Given the description of an element on the screen output the (x, y) to click on. 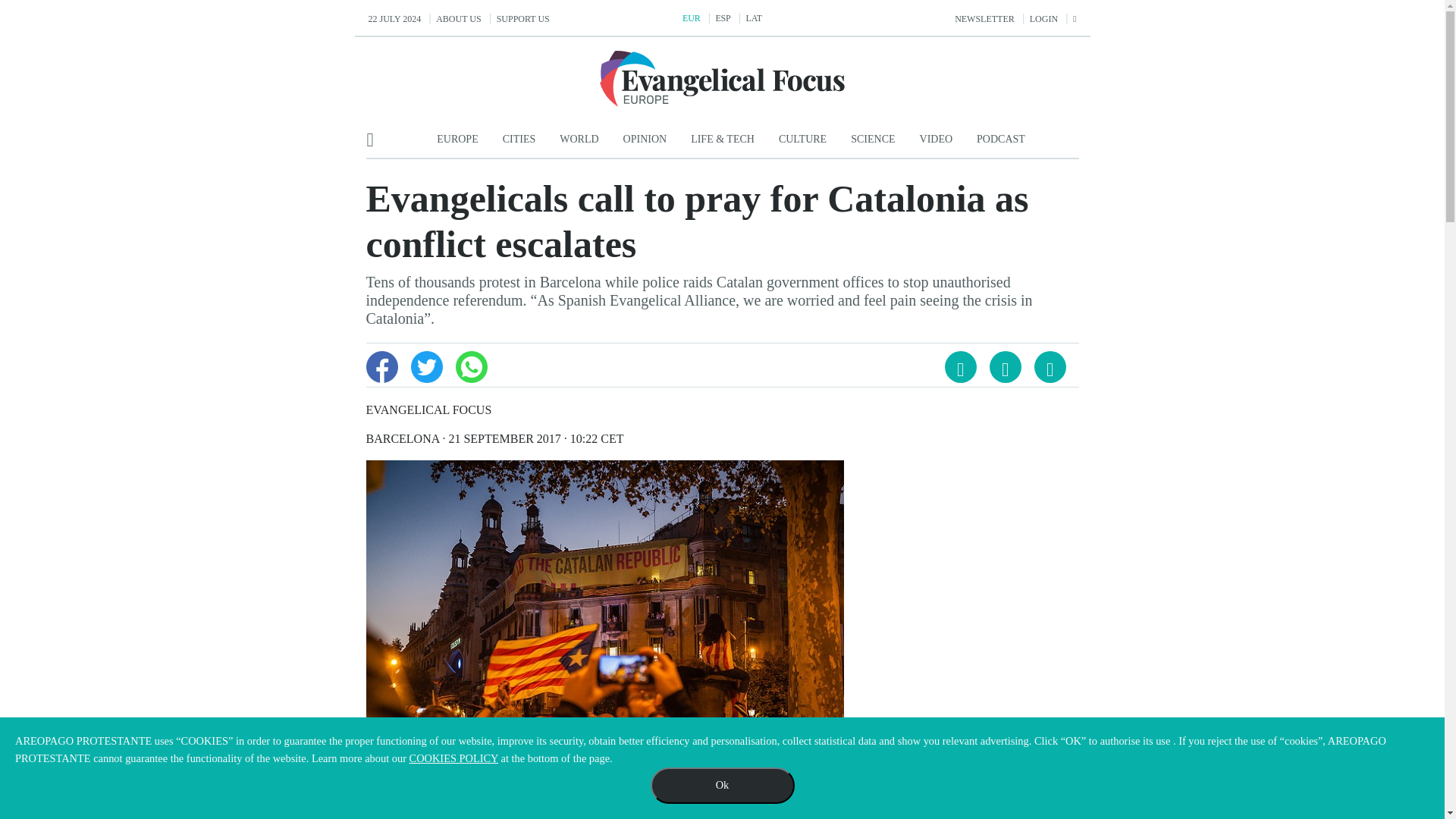
CITIES (519, 139)
LOGIN (1043, 18)
NEWSLETTER (984, 18)
ABOUT US (457, 18)
Evangelical Focus (721, 78)
22 JULY 2024 (395, 18)
EUROPE (457, 139)
SUPPORT US (523, 18)
